Given the description of an element on the screen output the (x, y) to click on. 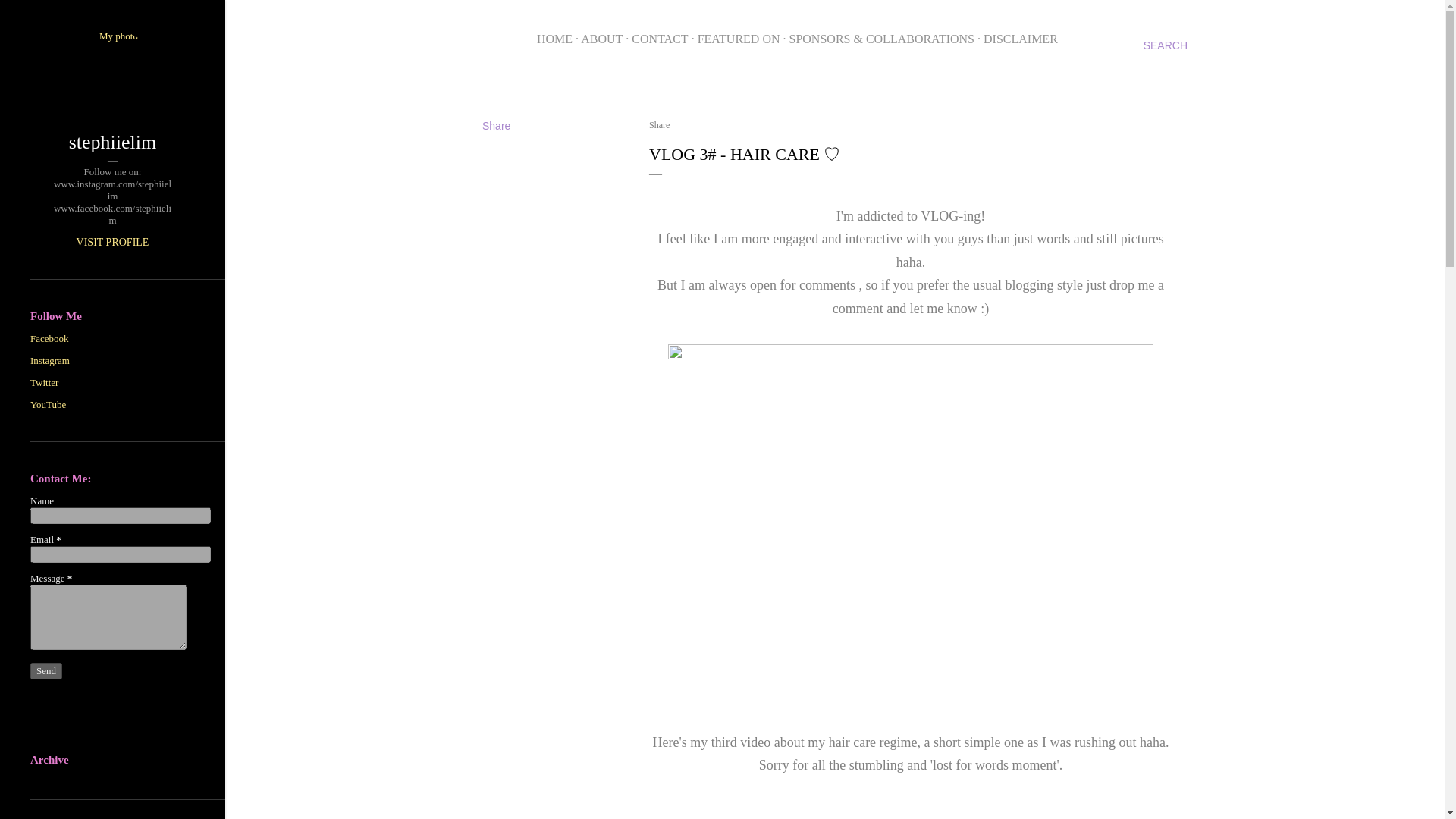
Share (659, 125)
CONTACT (659, 38)
HOME (554, 38)
SEARCH (1165, 45)
DISCLAIMER (1021, 38)
Share (496, 125)
Send (46, 670)
ABOUT (601, 38)
FEATURED ON (738, 38)
